Given the description of an element on the screen output the (x, y) to click on. 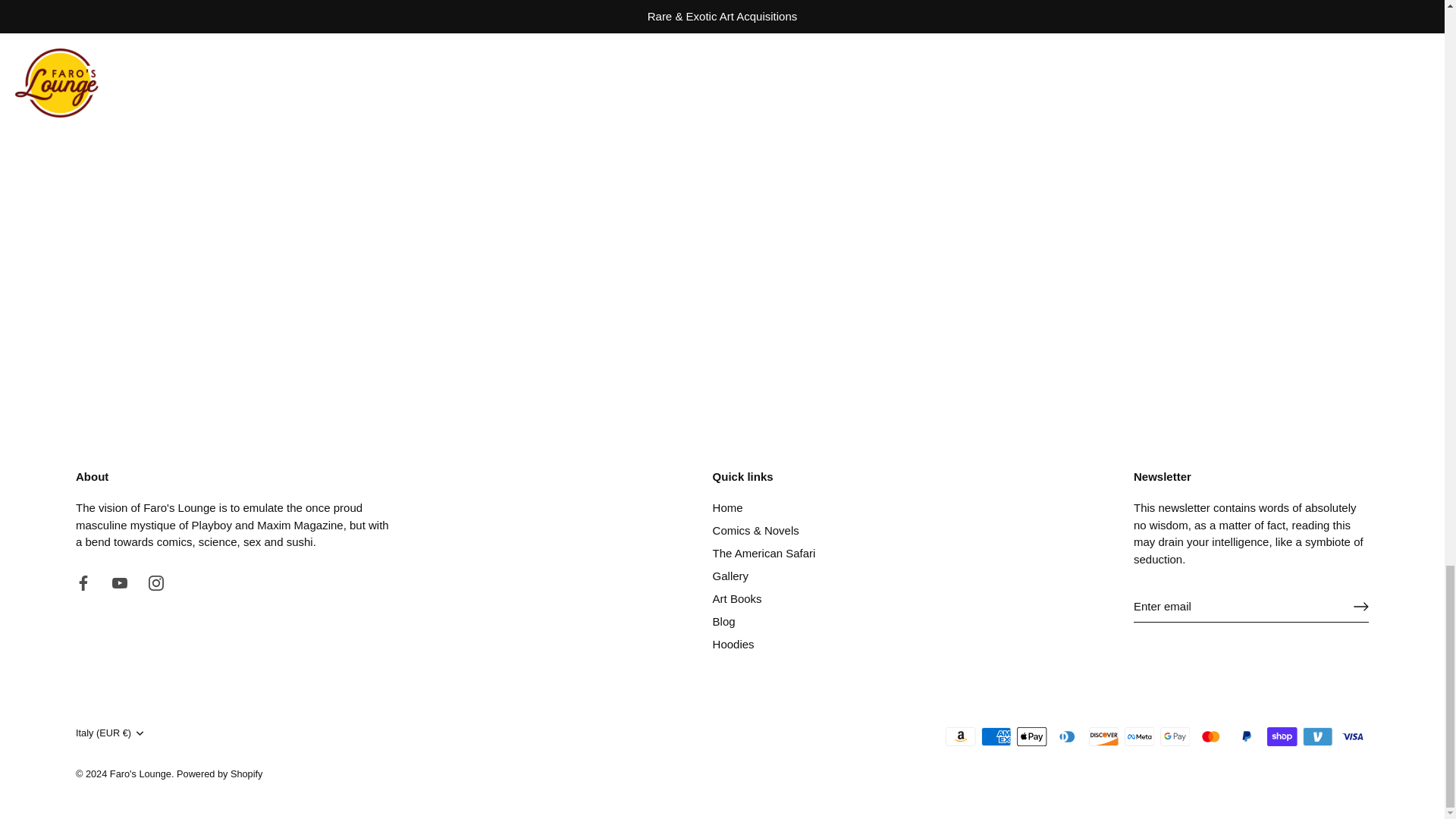
Amazon (959, 736)
Visa (1353, 736)
Discover (1104, 736)
Mastercard (1210, 736)
Google Pay (1174, 736)
Diners Club (1067, 736)
Venmo (1317, 736)
Shop Pay (1281, 736)
Meta Pay (1139, 736)
RIGHT ARROW LONG (1361, 606)
